Given the description of an element on the screen output the (x, y) to click on. 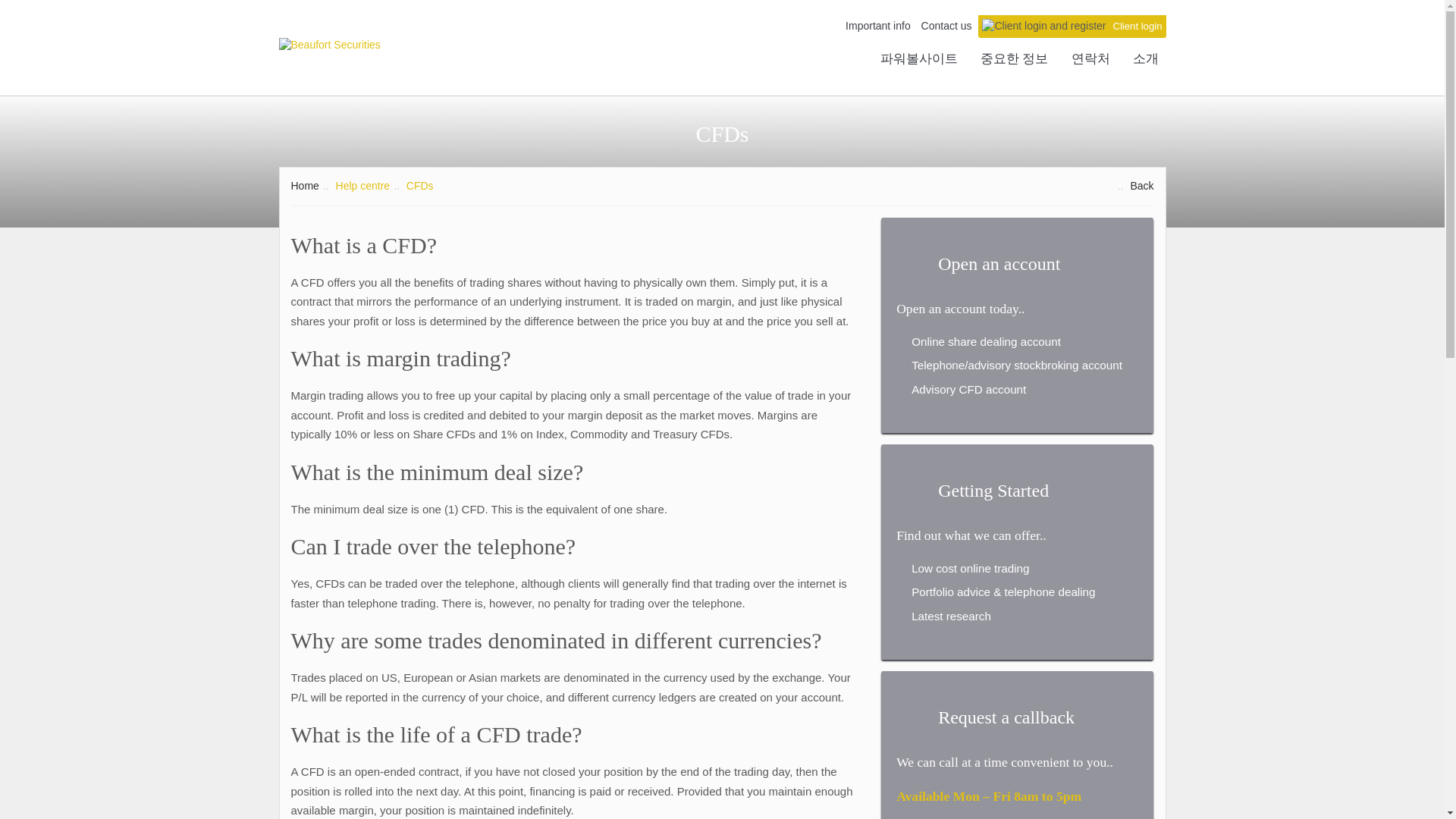
Back (1141, 185)
Online share dealing account (986, 341)
Advisory CFD account (969, 389)
Low cost online trading (970, 568)
Latest research (951, 615)
CFDs (419, 185)
Contact us (946, 25)
Important info (878, 25)
Home (304, 185)
Help centre (363, 185)
